Given the description of an element on the screen output the (x, y) to click on. 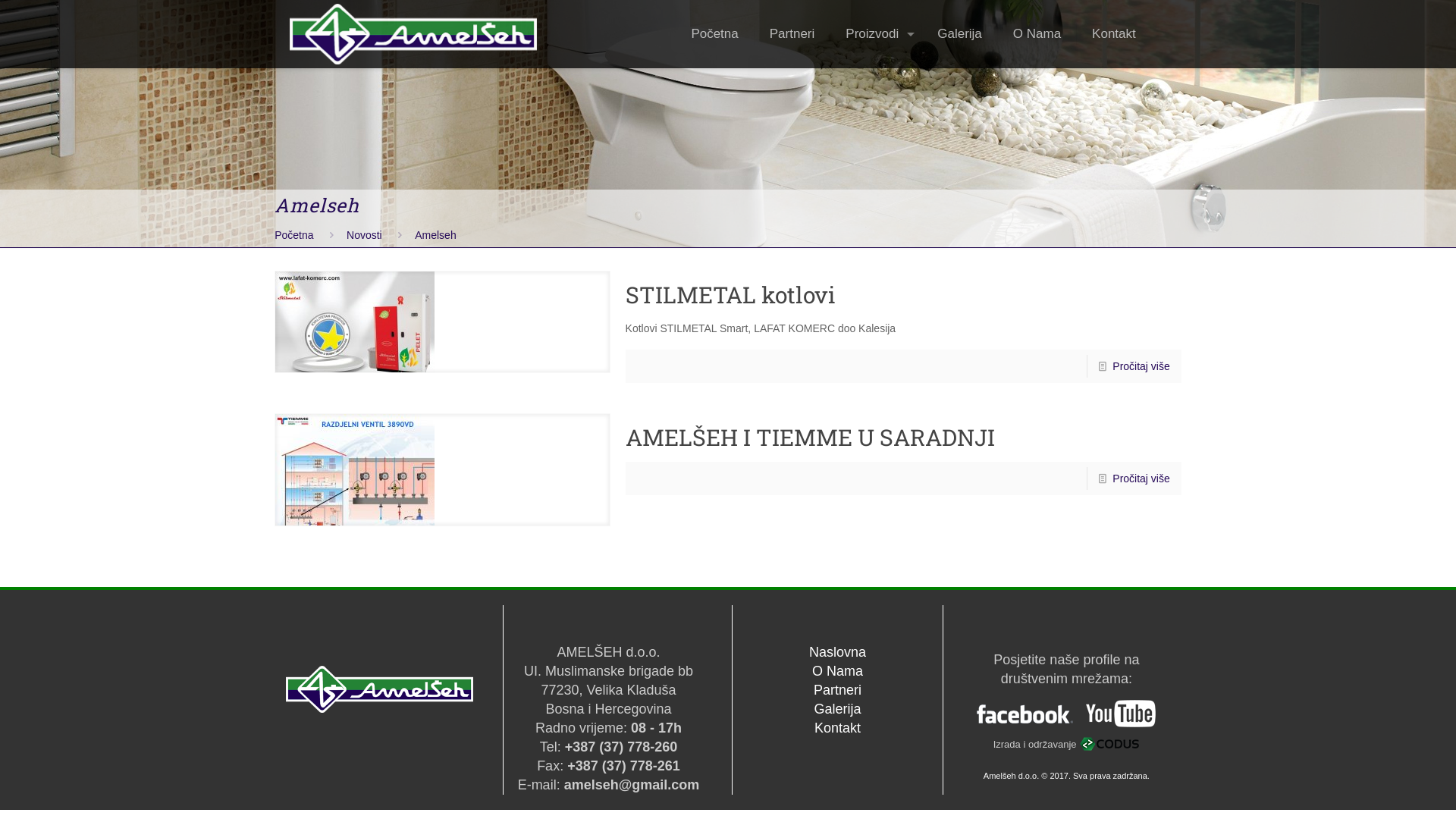
Proizvodi Element type: text (876, 34)
Partneri Element type: text (792, 34)
STILMETAL kotlovi Element type: text (730, 294)
Kontakt Element type: text (837, 727)
O Nama Element type: text (837, 670)
Naslovna Element type: text (837, 651)
O Nama Element type: text (1036, 34)
Kontakt Element type: text (1113, 34)
Amelseh Element type: text (434, 235)
Galerija Element type: text (959, 34)
Galerija Element type: text (836, 708)
Novosti Element type: text (364, 235)
Partneri Element type: text (837, 689)
